Given the description of an element on the screen output the (x, y) to click on. 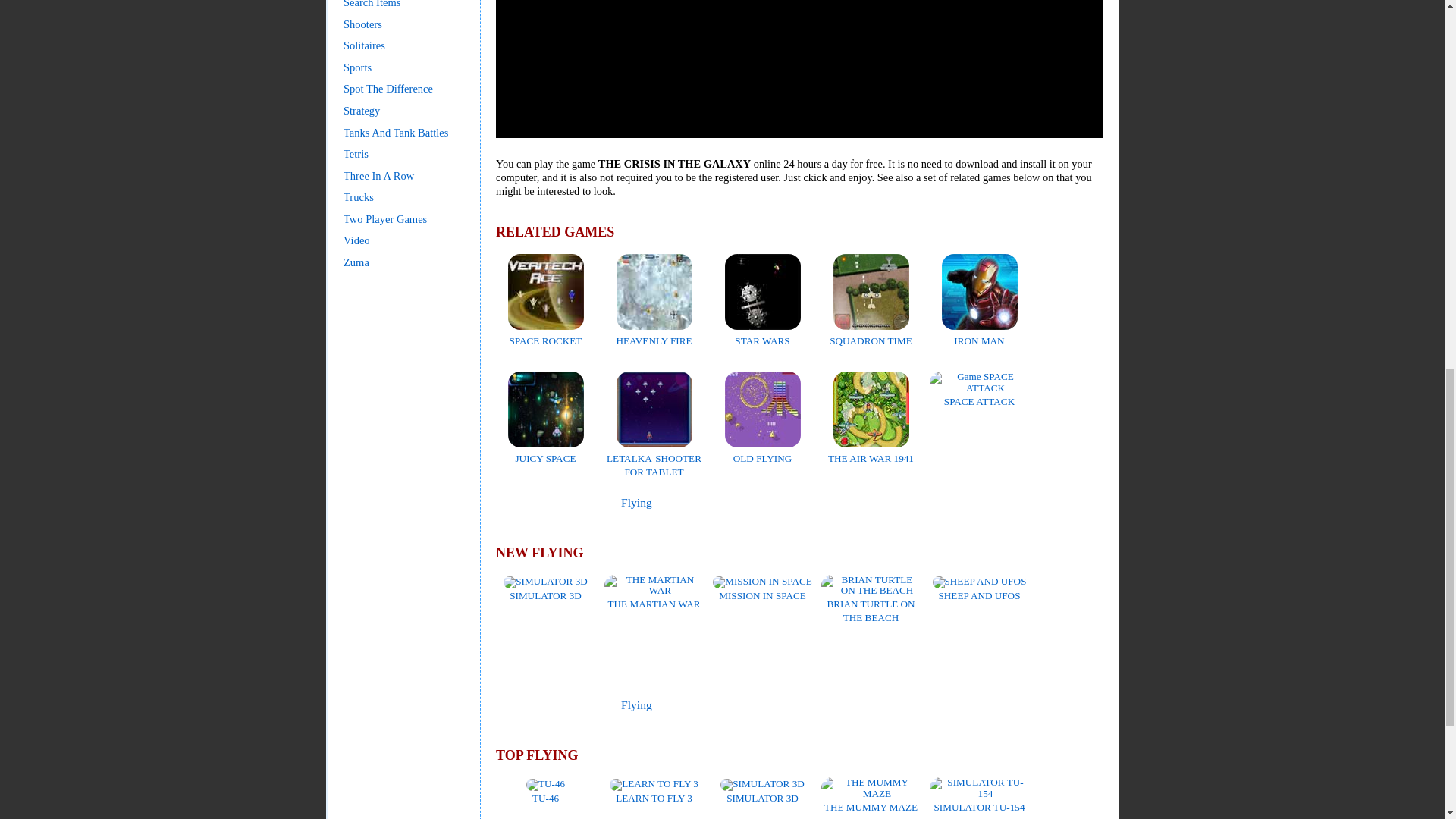
IRON MAN (979, 333)
TU-46 (544, 790)
MISSION IN SPACE (762, 588)
Flying (636, 704)
New games (539, 705)
BRIAN TURTLE ON THE BEACH (870, 603)
MISSION IN SPACE (762, 588)
OLD FLYING (762, 451)
Flying (636, 502)
THE MARTIAN WAR (653, 596)
